Given the description of an element on the screen output the (x, y) to click on. 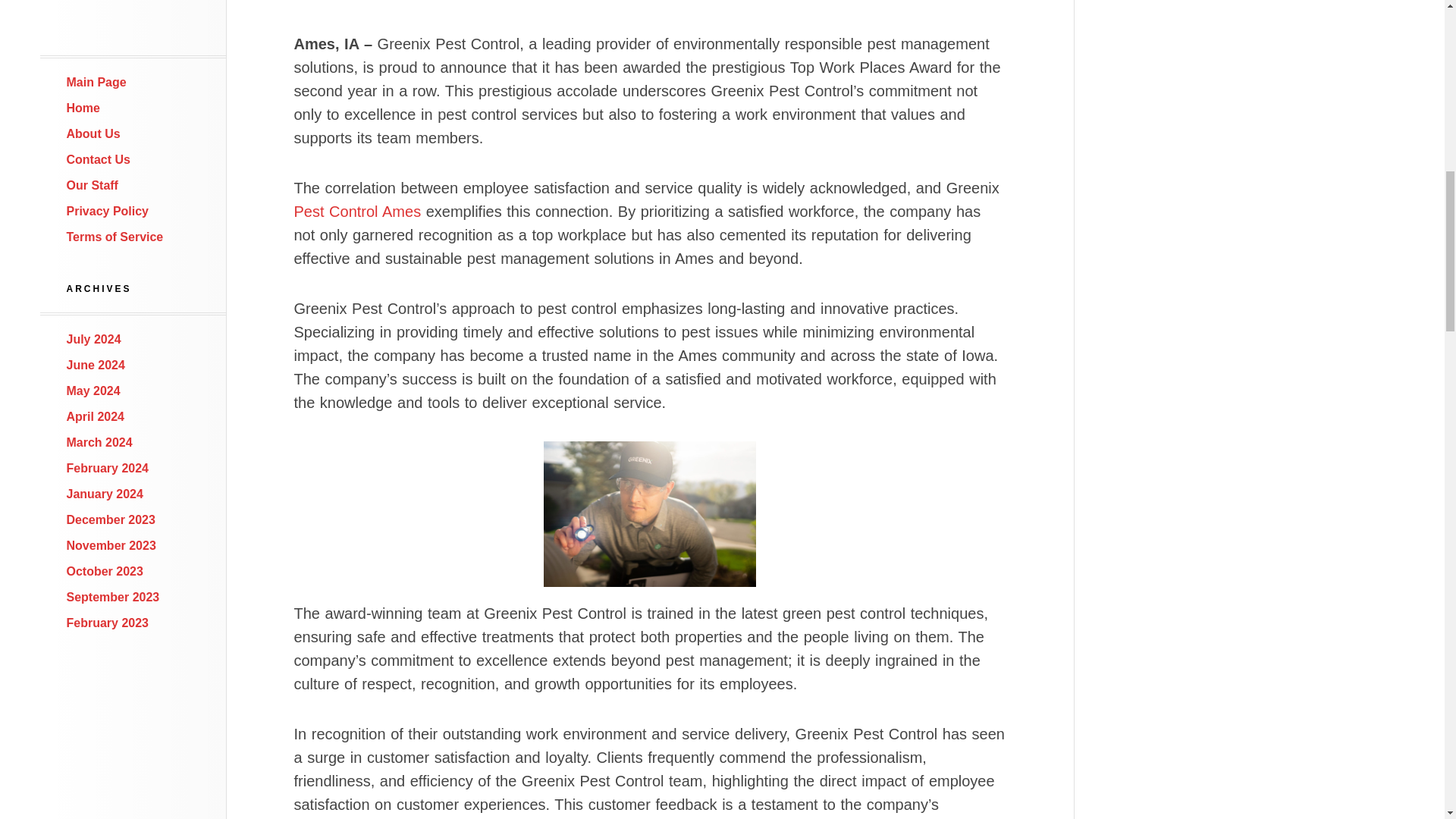
June 2024 (95, 364)
Our Staff (91, 185)
November 2023 (110, 545)
March 2024 (99, 441)
April 2024 (94, 416)
February 2023 (107, 622)
Terms of Service (114, 236)
July 2024 (93, 338)
May 2024 (93, 390)
Main Page (96, 82)
Go Home (96, 82)
About Us (93, 133)
Contact Us (98, 159)
Privacy Policy (107, 210)
January 2024 (104, 493)
